Given the description of an element on the screen output the (x, y) to click on. 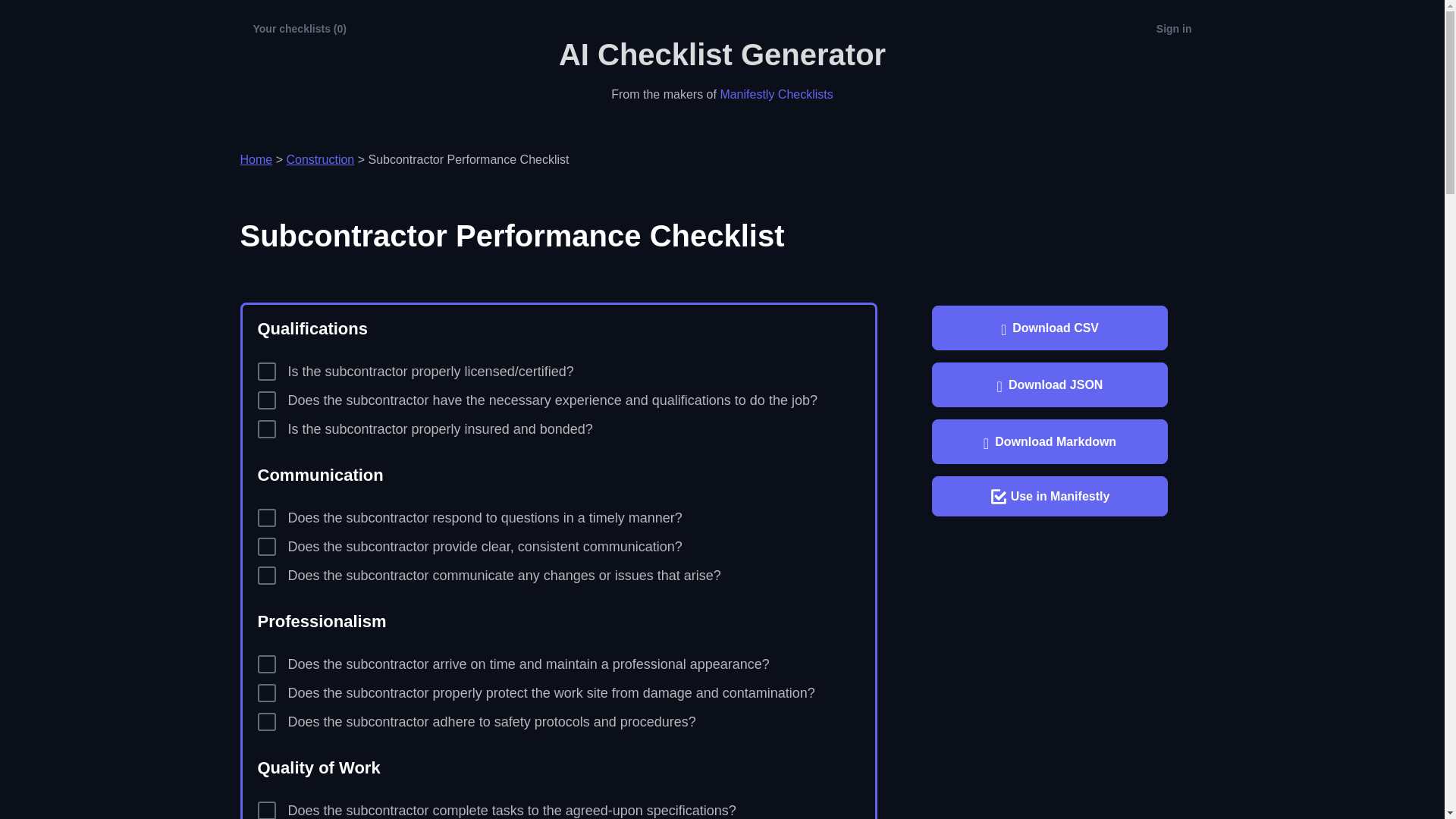
true (266, 575)
true (266, 664)
true (266, 371)
true (266, 810)
true (266, 429)
true (266, 692)
Construction (319, 159)
true (266, 721)
Sign in (1174, 28)
Manifestly Checklists (775, 93)
true (266, 400)
Download JSON (1049, 384)
Home (256, 159)
Download CSV (1049, 327)
AI Checklist Generator (722, 54)
